Given the description of an element on the screen output the (x, y) to click on. 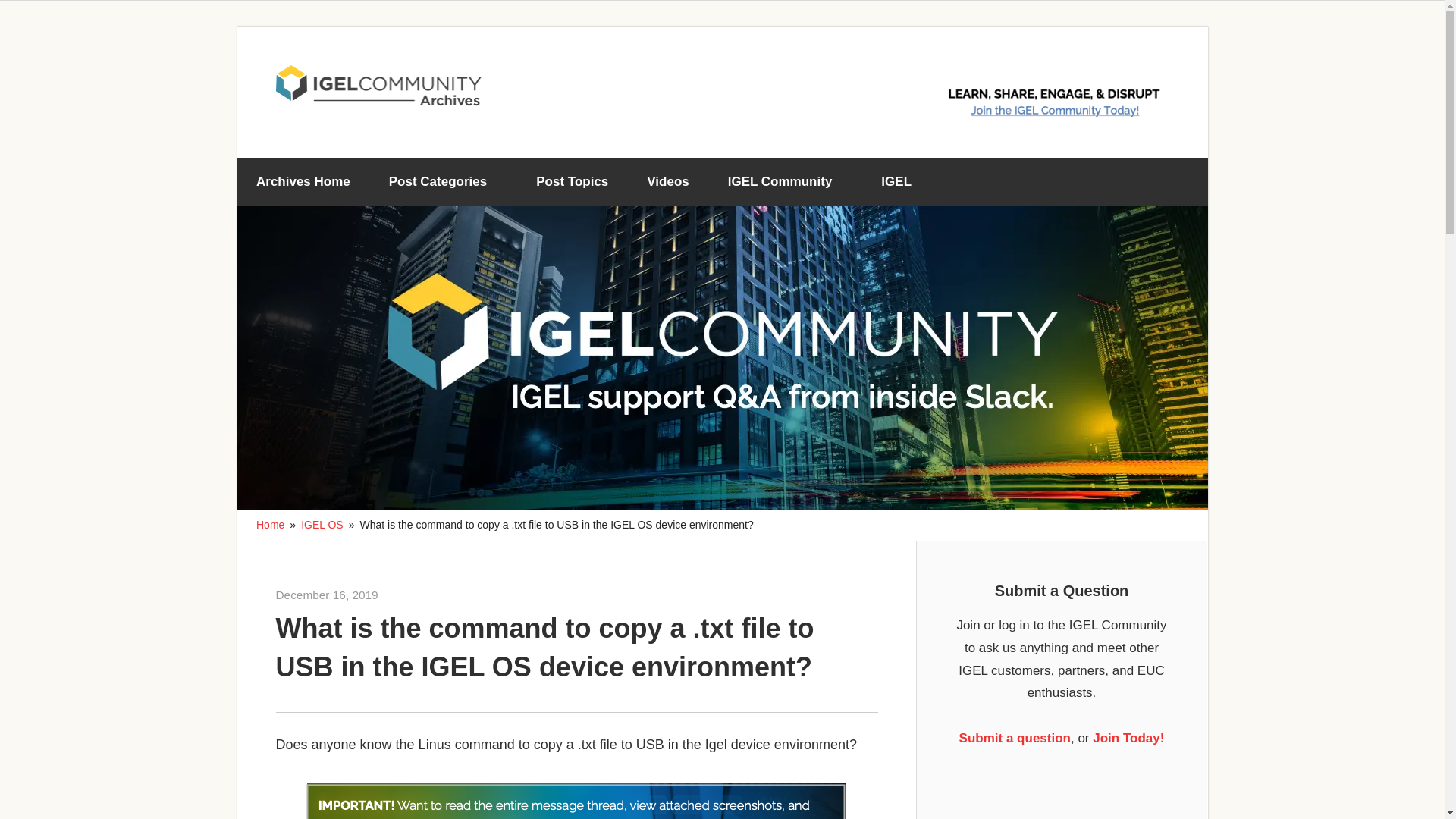
Archives Home (302, 182)
5:34 pm (327, 594)
View all posts by IGEL Community Archives (440, 594)
Post Categories (442, 182)
Home (269, 524)
Post Topics (571, 182)
IGEL (901, 182)
IGEL Community (784, 182)
Videos (667, 182)
